Given the description of an element on the screen output the (x, y) to click on. 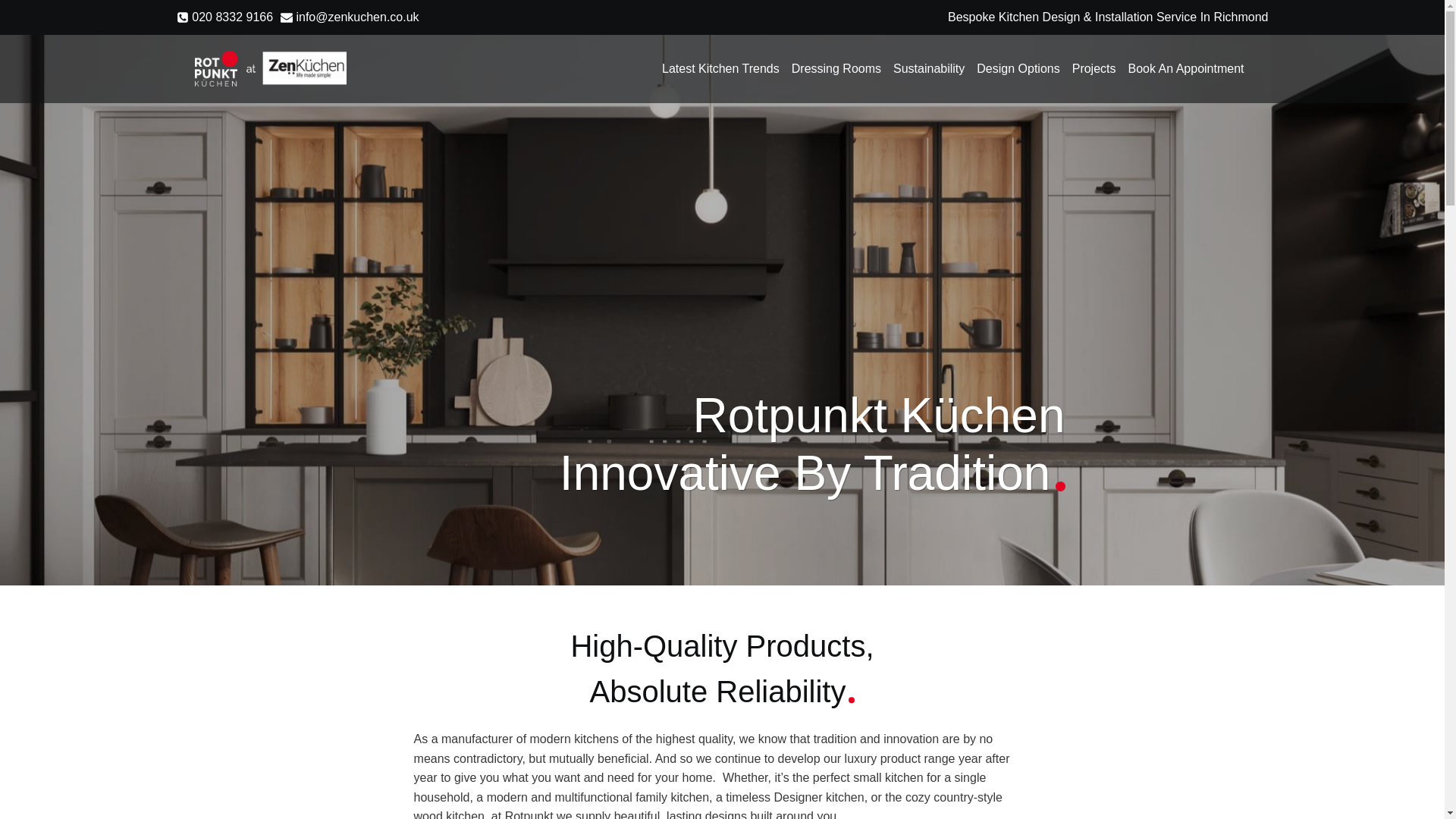
020 8332 9166 (224, 17)
Sustainability (928, 69)
Dressing Rooms (836, 69)
Book An Appointment (1186, 69)
Projects (1093, 69)
Latest Kitchen Trends (721, 69)
Design Options (1018, 69)
